Given the description of an element on the screen output the (x, y) to click on. 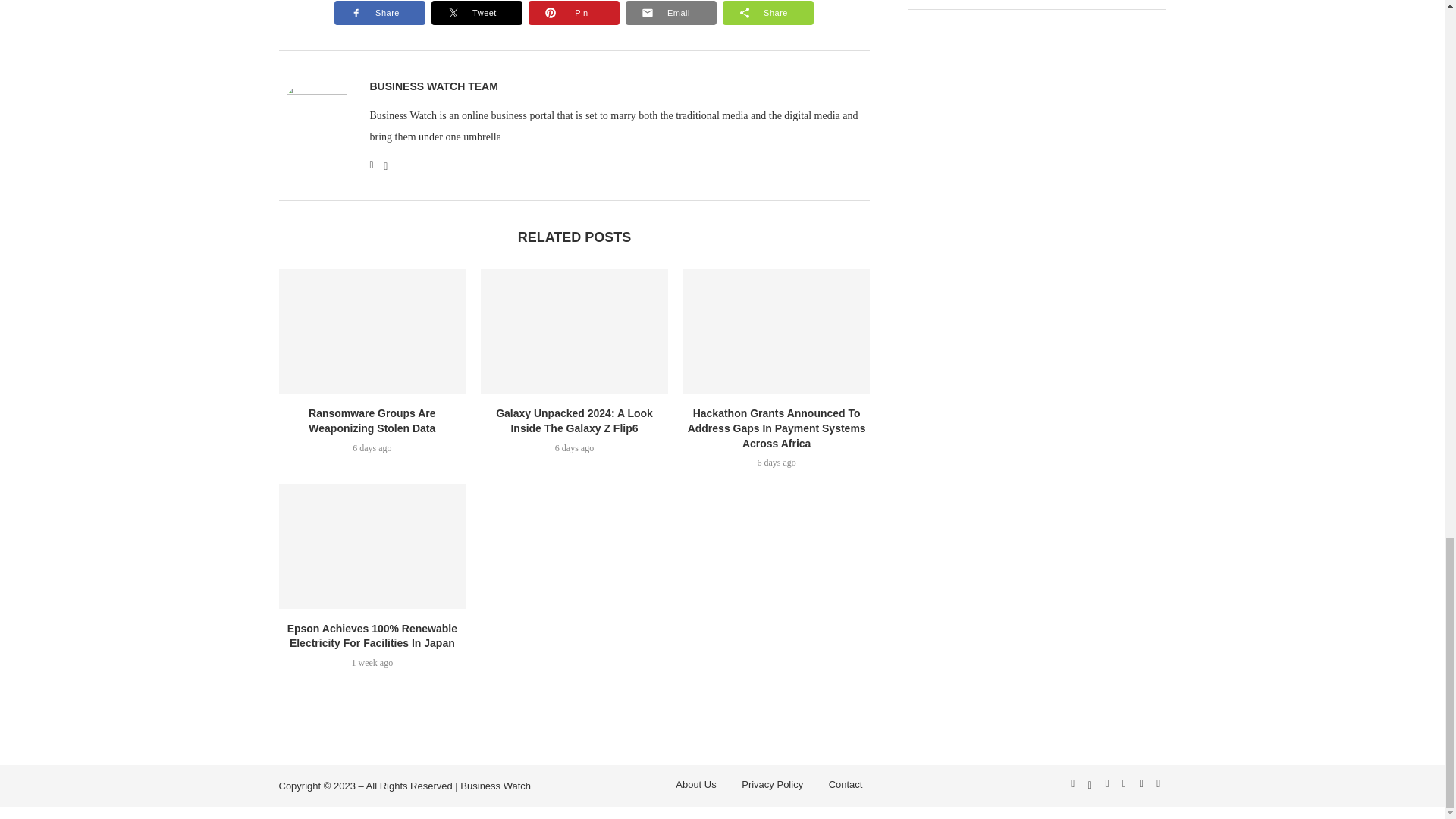
Ransomware Groups Are Weaponizing Stolen Data (372, 331)
Galaxy Unpacked 2024: A Look Inside The Galaxy Z Flip6 (574, 331)
Author Business Watch Team (433, 86)
